Given the description of an element on the screen output the (x, y) to click on. 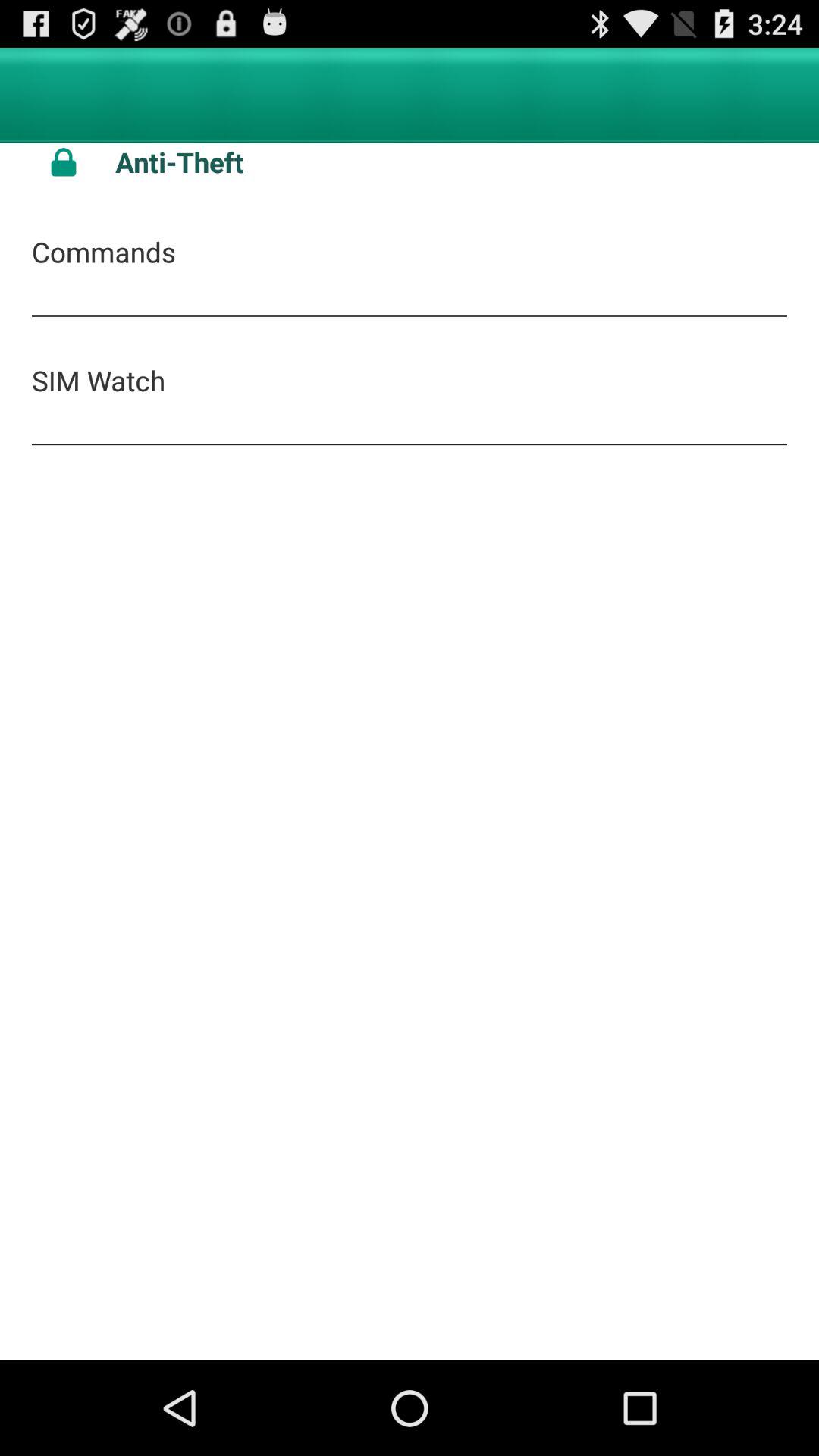
scroll to anti-theft icon (451, 161)
